Given the description of an element on the screen output the (x, y) to click on. 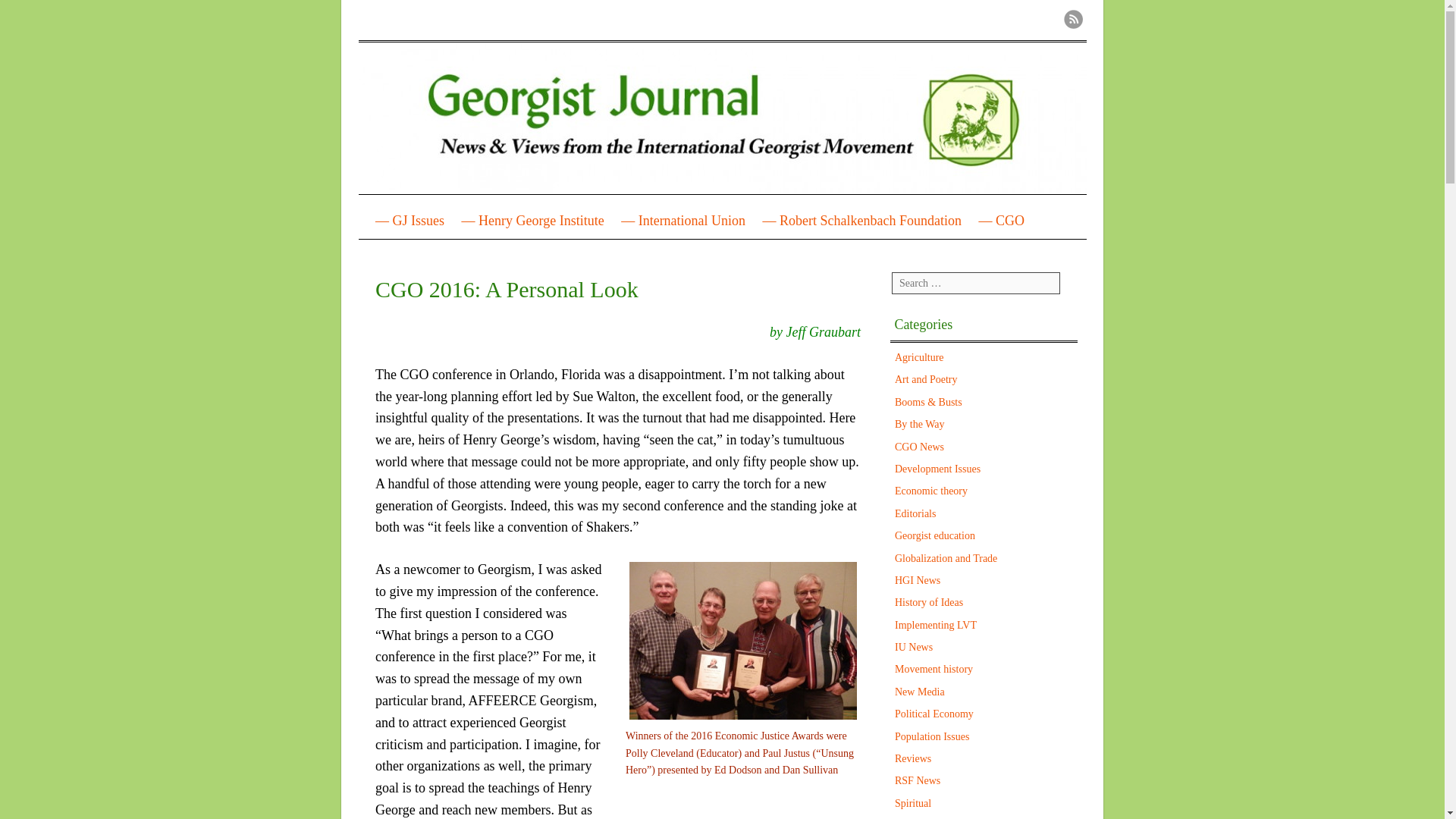
Political Economy (934, 713)
IU News (914, 646)
Georgist education (935, 535)
Movement history (933, 668)
Search (40, 21)
Globalization and Trade (946, 558)
CGO News (919, 446)
Skip to content (416, 221)
Development Issues (937, 469)
New Media (919, 691)
Editorials (915, 513)
RSS Feed (1071, 18)
HGI News (917, 580)
Implementing LVT (935, 624)
By the Way (919, 423)
